Given the description of an element on the screen output the (x, y) to click on. 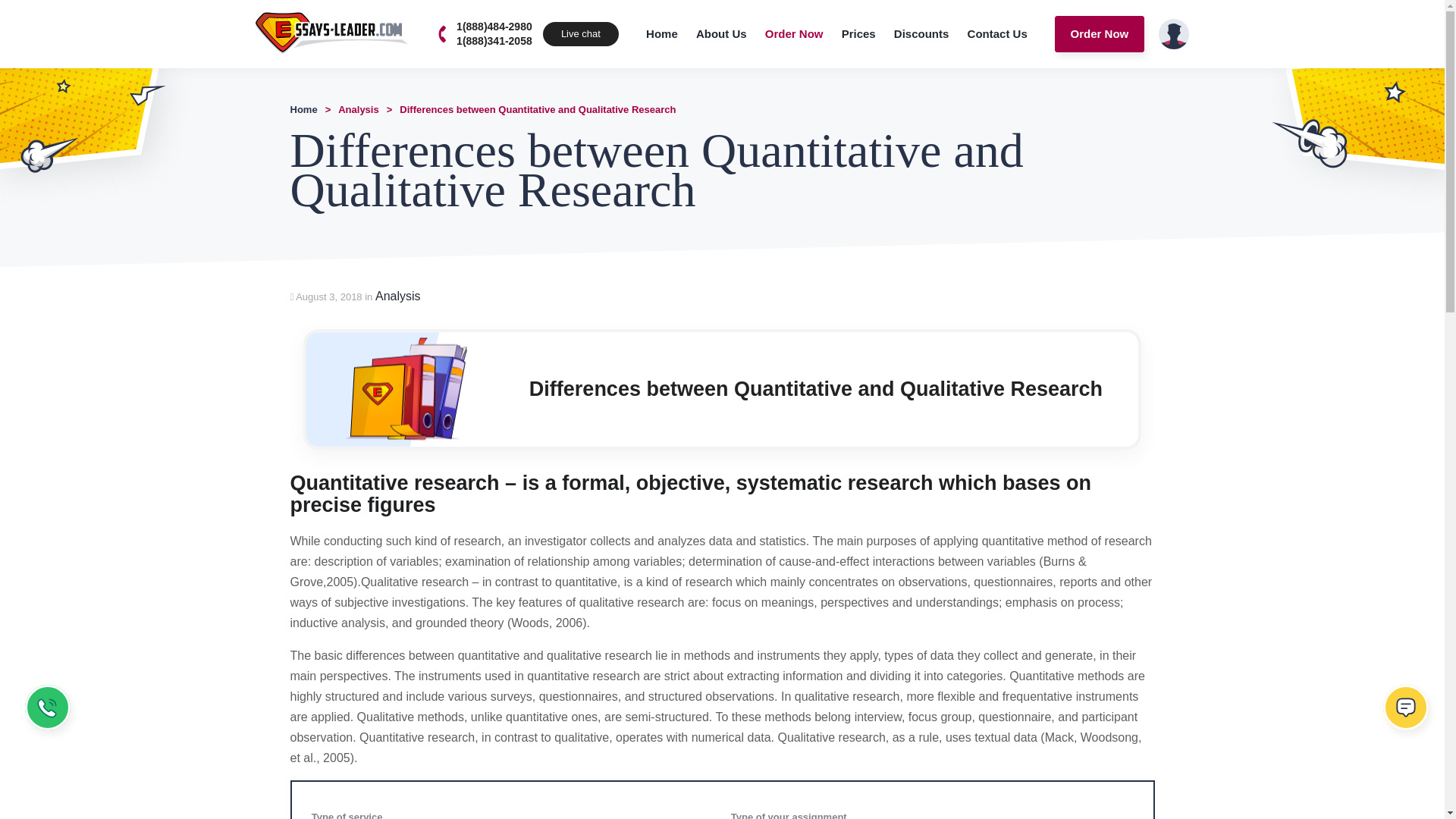
Live chat (580, 33)
Order Now (794, 33)
Contact Us (997, 33)
Live chat (1408, 712)
Order Now (1099, 33)
Login (1173, 33)
Go to Essays.Leader.com. (303, 108)
About Us (721, 33)
Discounts (921, 33)
Go to the Analysis Essays Category archives. (357, 108)
